Given the description of an element on the screen output the (x, y) to click on. 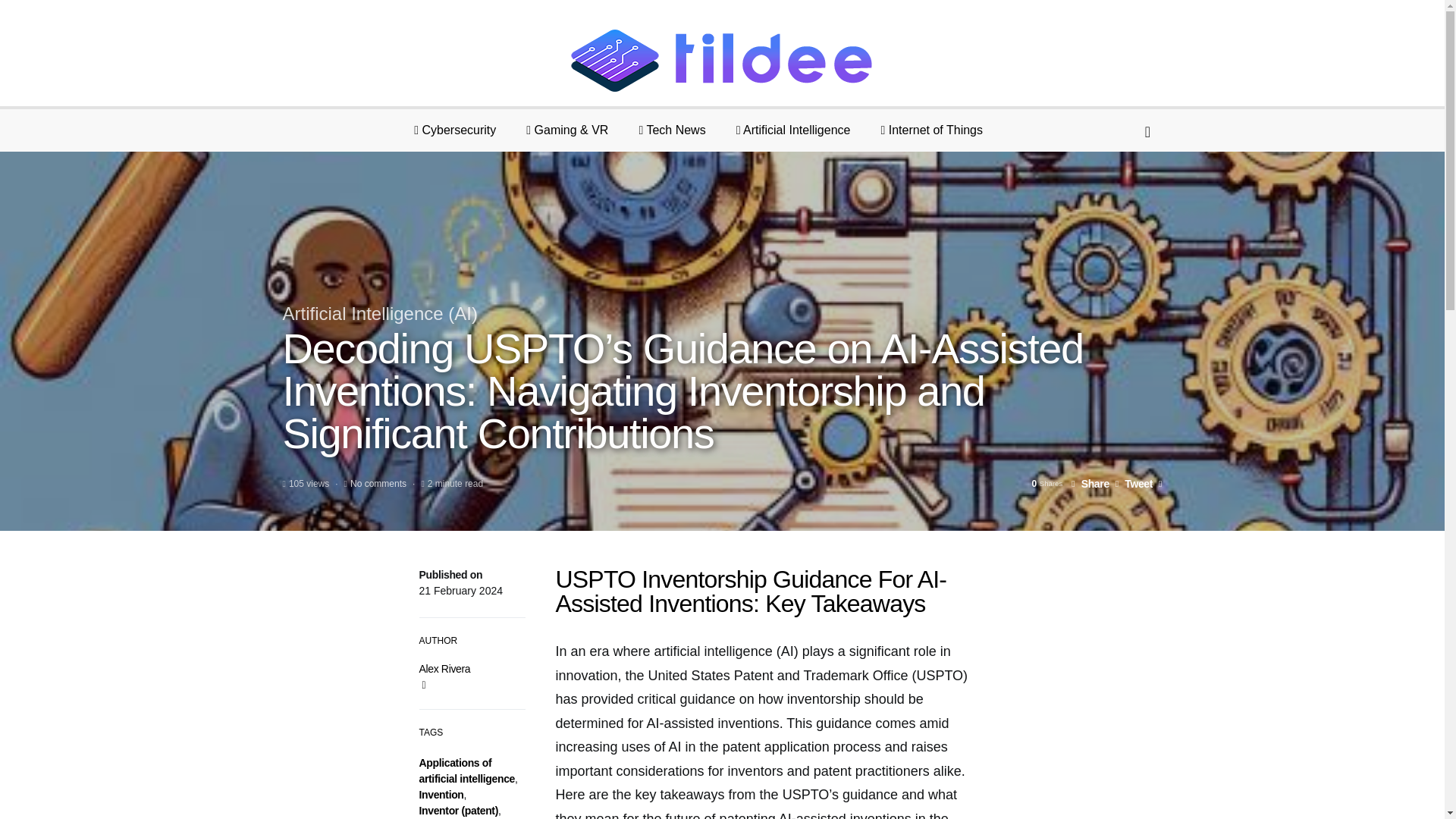
No comments (378, 483)
Share (1090, 483)
Tweet (1134, 483)
Invention (441, 794)
Applications of artificial intelligence (467, 770)
Alex Rivera (444, 668)
